Given the description of an element on the screen output the (x, y) to click on. 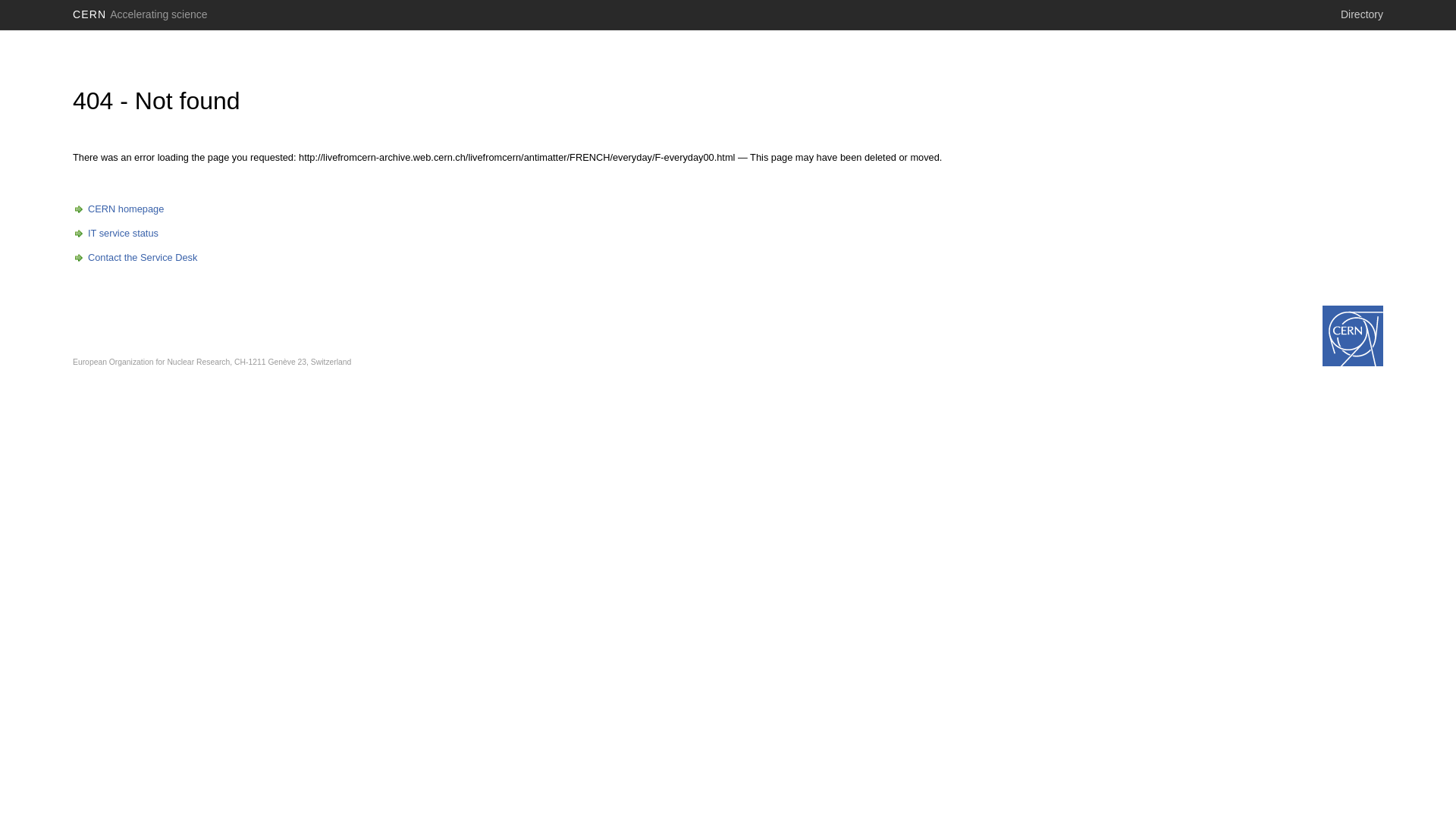
home.cern Element type: hover (1352, 335)
IT service status Element type: text (115, 232)
Directory Element type: text (1361, 14)
CERN Accelerating science Element type: text (139, 14)
CERN homepage Element type: text (117, 208)
Contact the Service Desk Element type: text (134, 257)
